Given the description of an element on the screen output the (x, y) to click on. 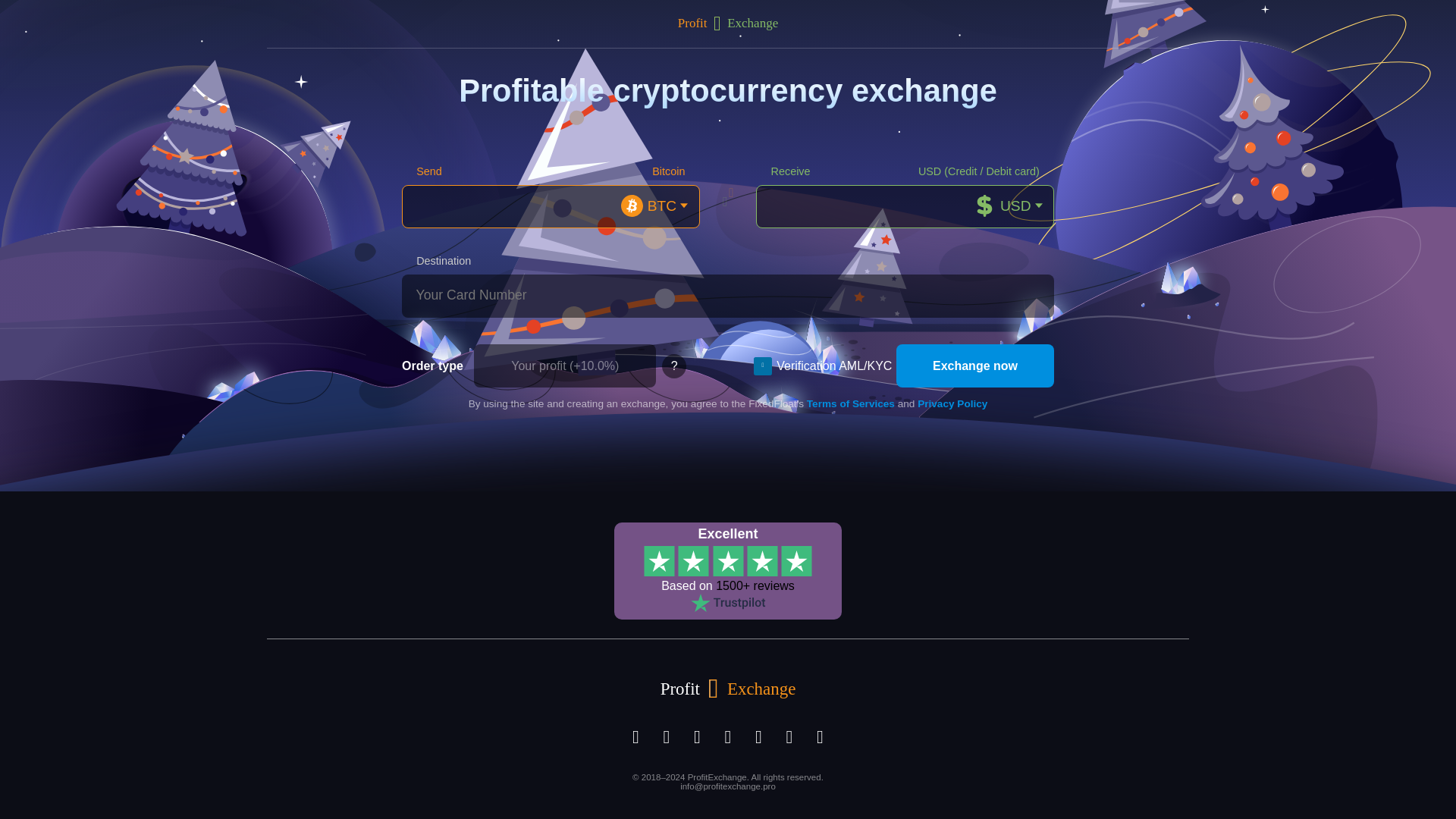
Terms of Services (850, 403)
Privacy Policy (952, 403)
Exchange now (975, 365)
